Given the description of an element on the screen output the (x, y) to click on. 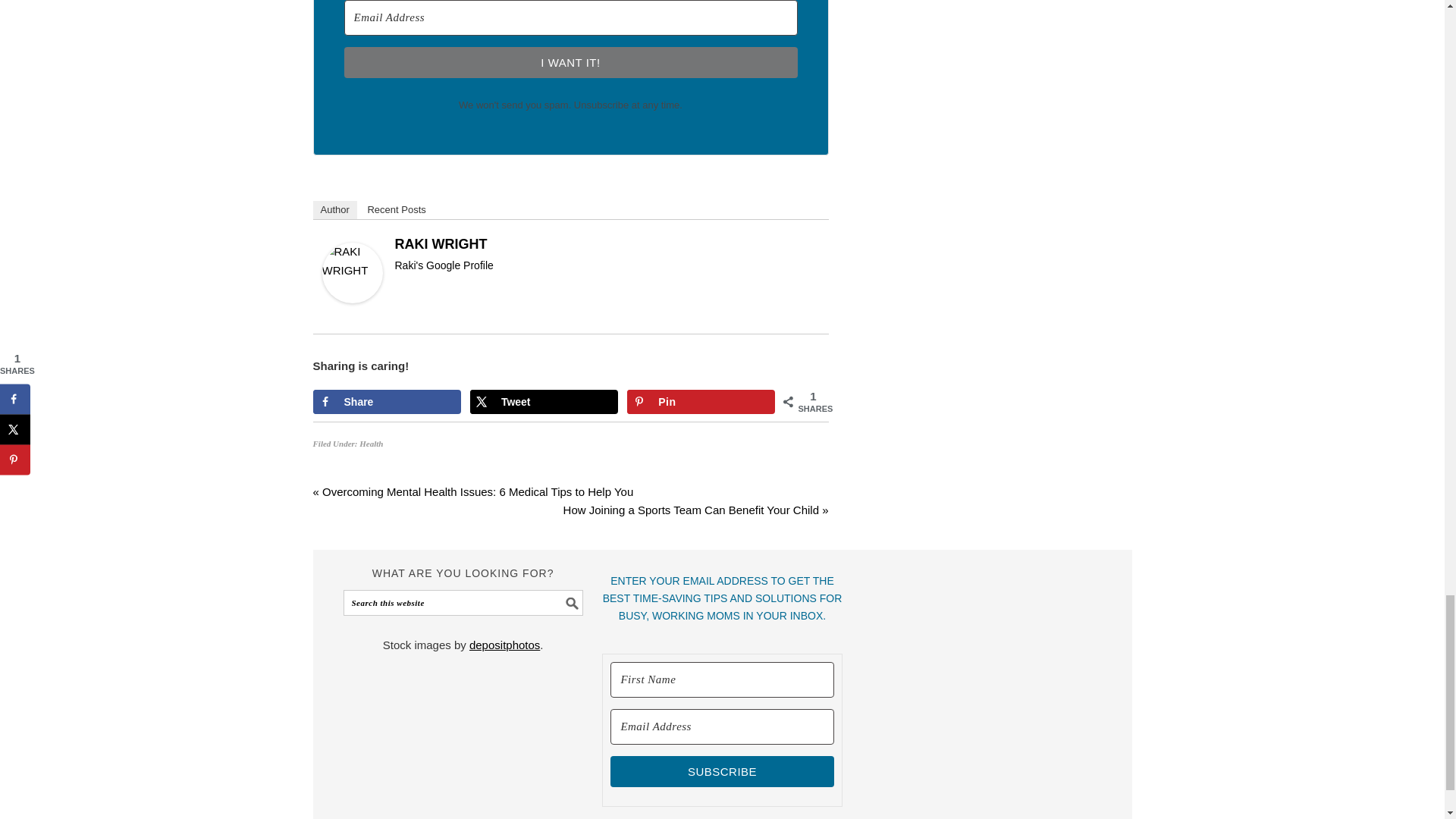
Share on Facebook (386, 401)
Share on X (543, 401)
Save to Pinterest (700, 401)
